Given the description of an element on the screen output the (x, y) to click on. 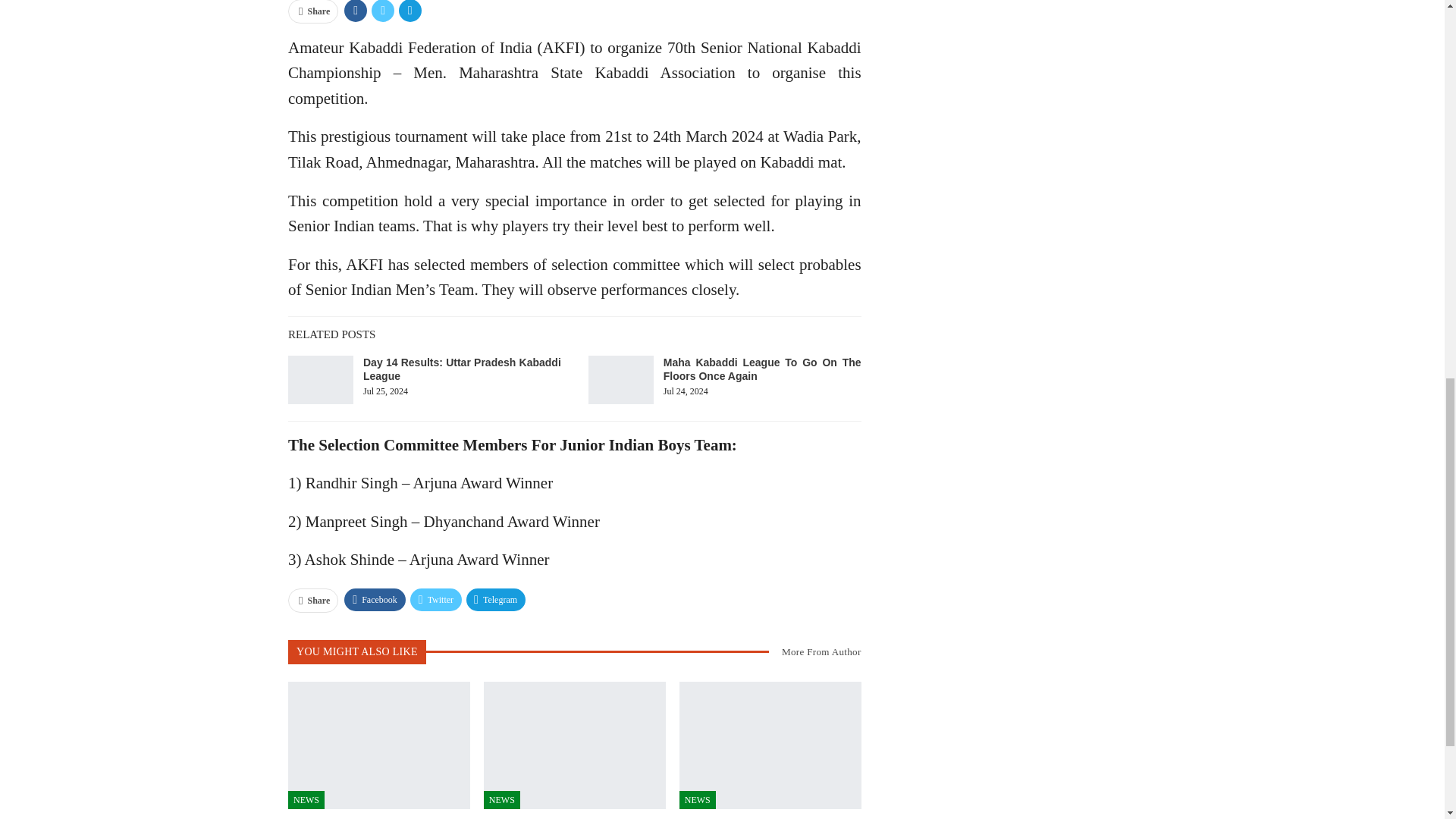
More From Author (814, 651)
Day 14 Results: Uttar Pradesh Kabaddi League (320, 379)
Telegram (495, 599)
Twitter (435, 599)
Maha Kabaddi League To Go On The Floors Once Again (762, 369)
Facebook (374, 599)
NEWS (306, 800)
NEWS (501, 800)
YOU MIGHT ALSO LIKE (357, 650)
Day 13 Results: Uttar Pradesh Kabaddi League (770, 745)
Maha Kabaddi League To Go On The Floors Once Again (620, 379)
NEWS (697, 800)
